Given the description of an element on the screen output the (x, y) to click on. 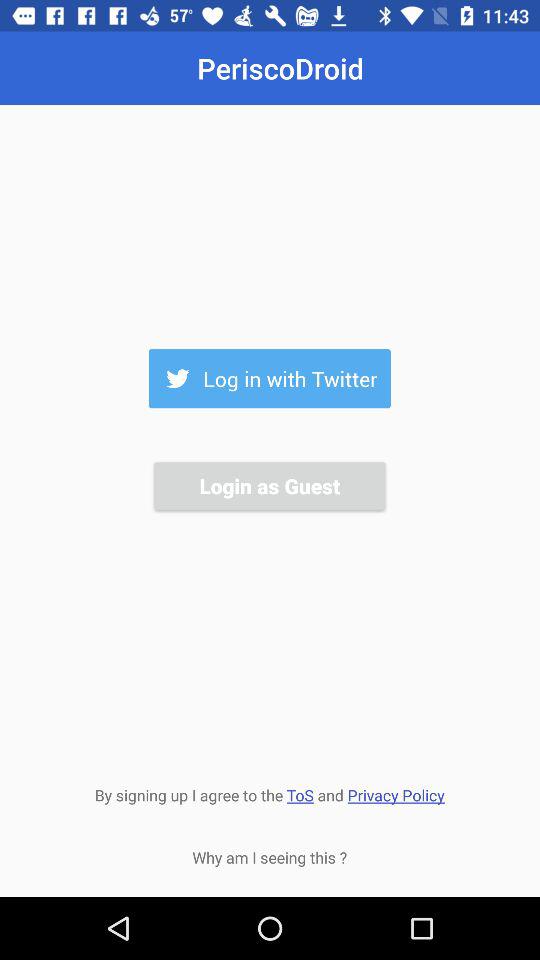
press item below log in with (269, 485)
